Given the description of an element on the screen output the (x, y) to click on. 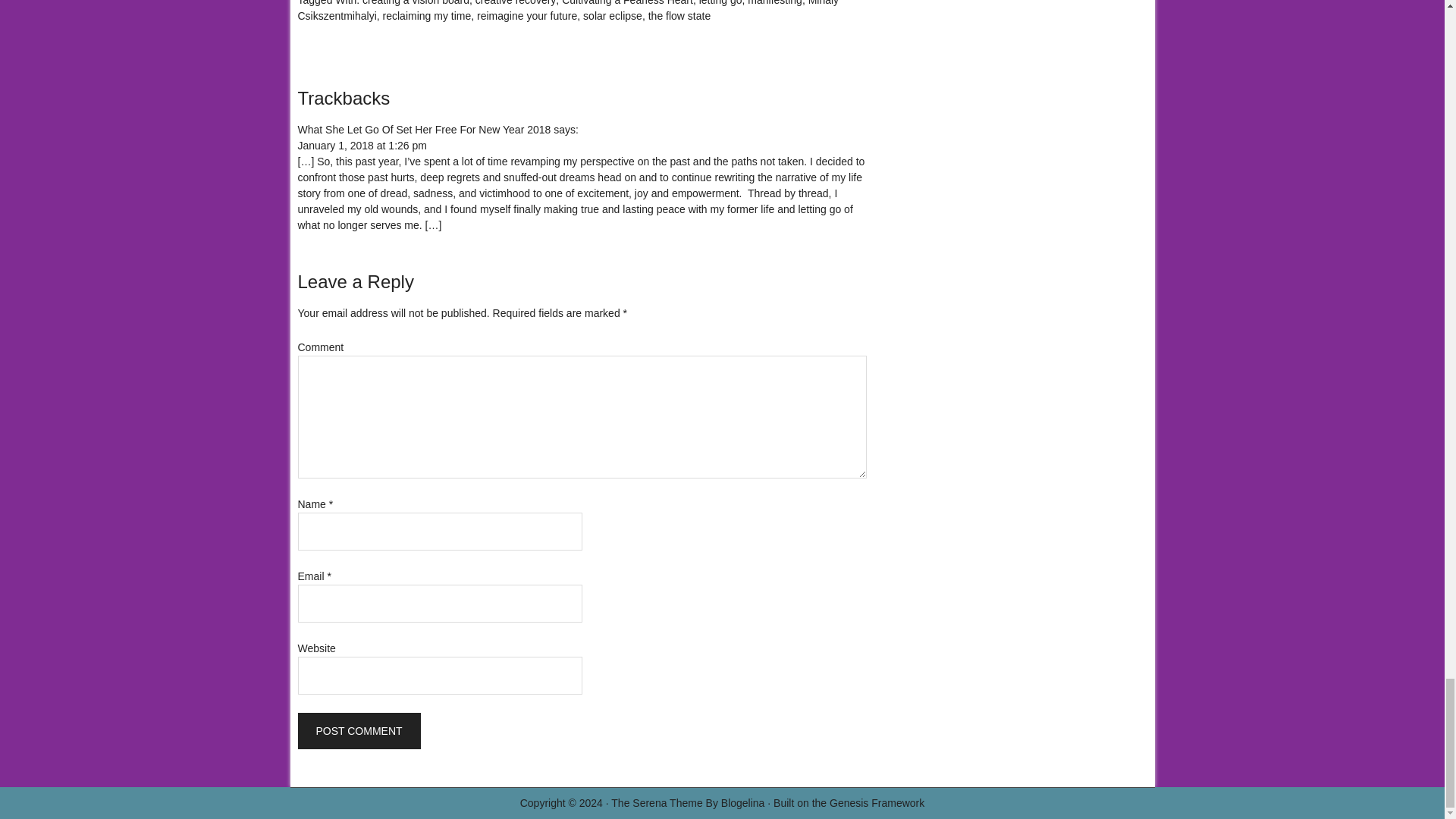
Cultivating a Fearless Heart (627, 2)
letting go (720, 2)
reclaiming my time (426, 15)
Genesis Framework (876, 802)
creating a vision board (415, 2)
solar eclipse (612, 15)
manifesting (775, 2)
creative recovery (516, 2)
What She Let Go Of Set Her Free For New Year 2018 (423, 129)
Post Comment (358, 730)
